Given the description of an element on the screen output the (x, y) to click on. 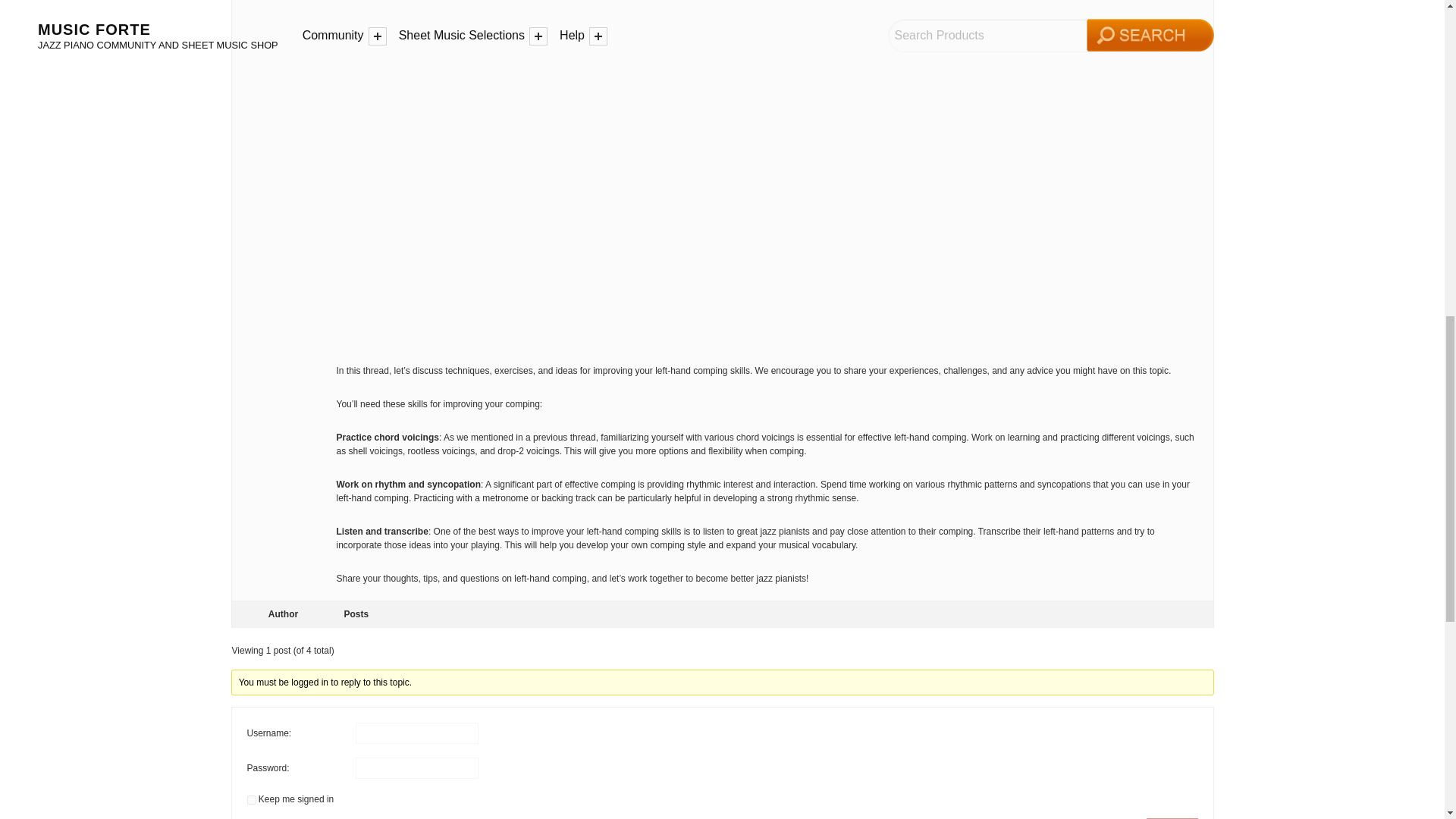
forever (251, 799)
